Given the description of an element on the screen output the (x, y) to click on. 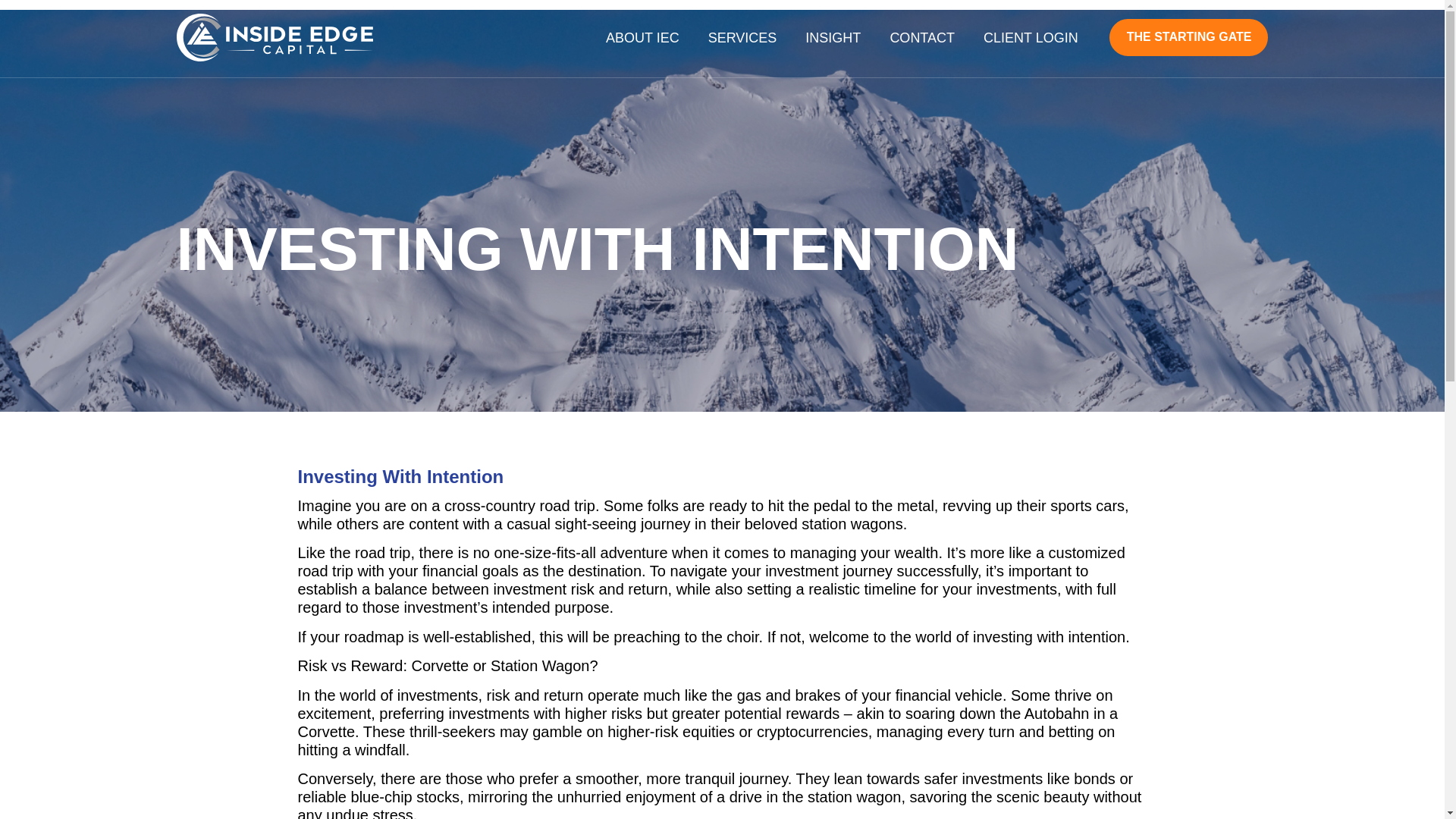
INSIGHT (832, 37)
ABOUT IEC (642, 37)
CONTACT (922, 37)
CLIENT LOGIN (1031, 37)
SERVICES (742, 37)
THE STARTING GATE (1188, 37)
